Given the description of an element on the screen output the (x, y) to click on. 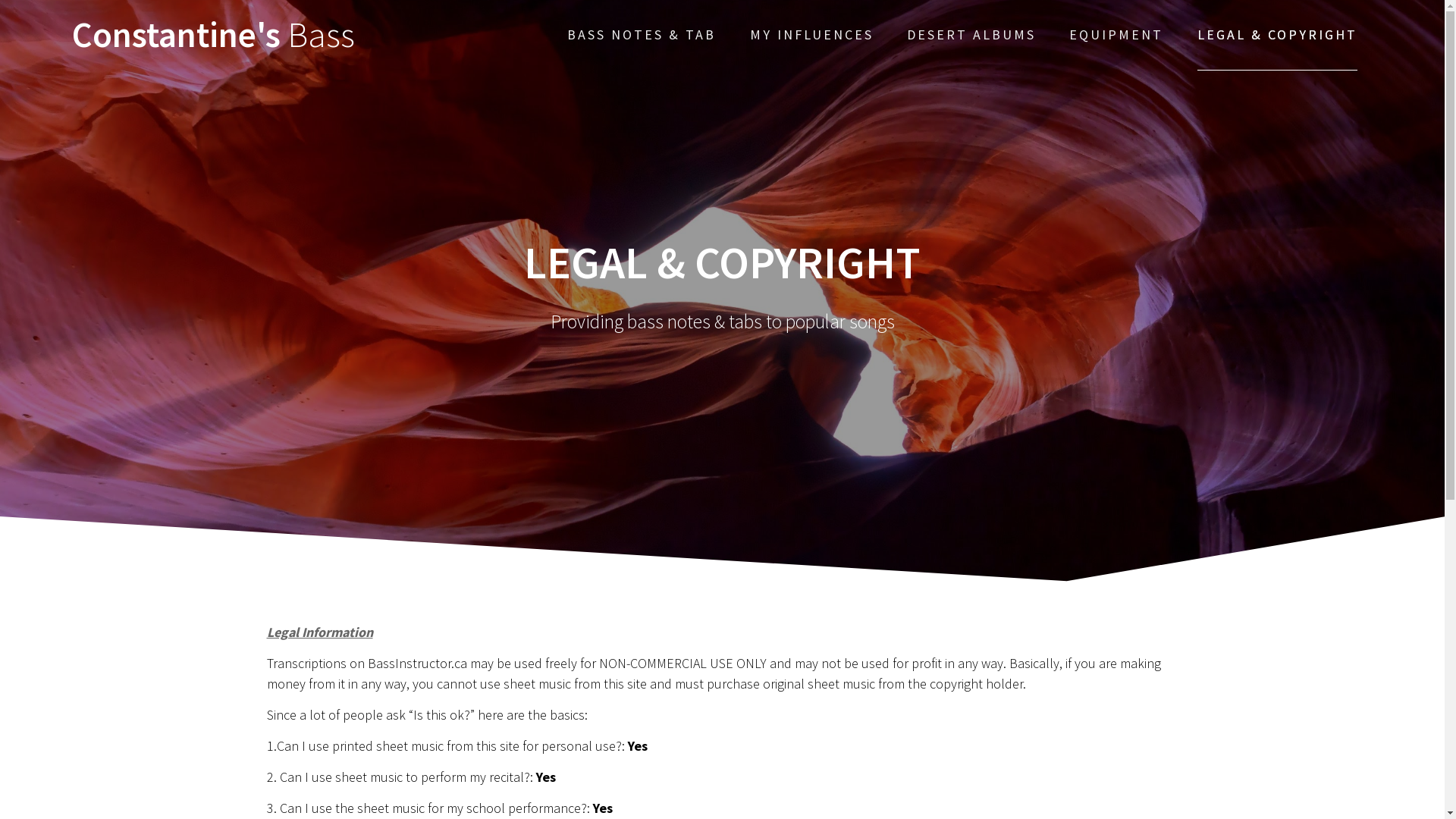
EQUIPMENT Element type: text (1116, 34)
Constantine's Bass Element type: text (213, 35)
BASS NOTES & TAB Element type: text (641, 34)
DESERT ALBUMS Element type: text (970, 34)
MY INFLUENCES Element type: text (811, 34)
LEGAL & COPYRIGHT Element type: text (1277, 35)
